Given the description of an element on the screen output the (x, y) to click on. 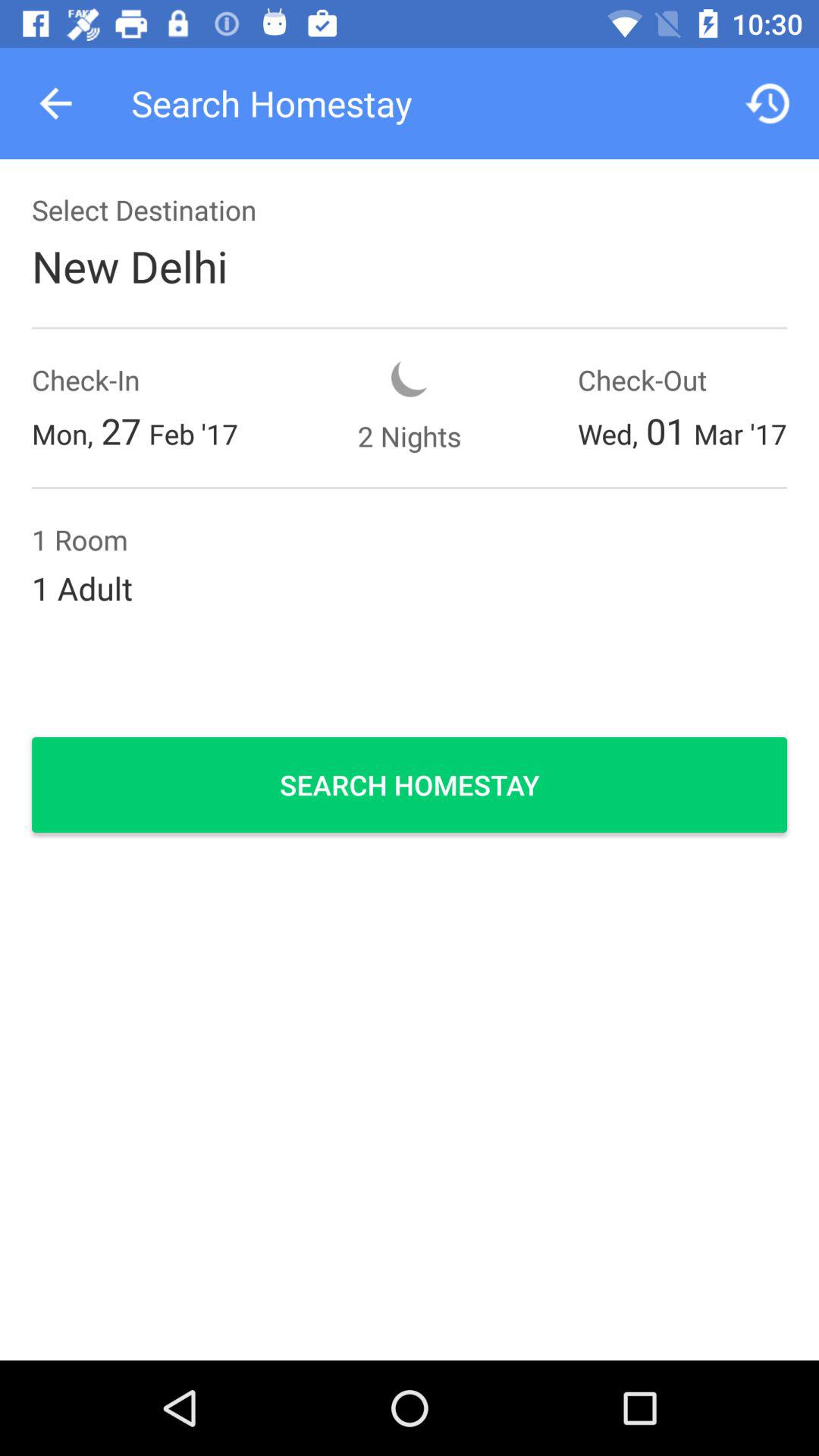
click the button  search home stay on the web page (409, 784)
